Given the description of an element on the screen output the (x, y) to click on. 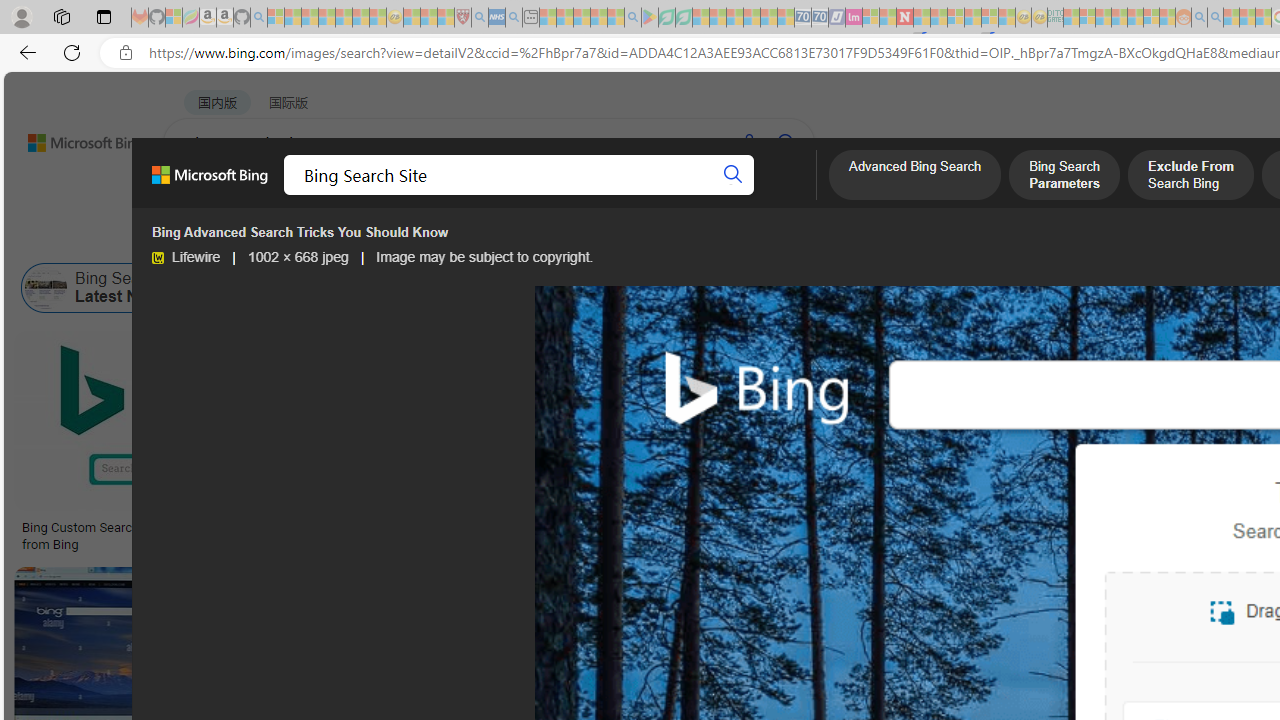
Type (372, 237)
Exclude From Search Bing (1190, 177)
Layout (443, 237)
Type (373, 237)
Bing - SEOLend (492, 528)
License (664, 237)
